Given the description of an element on the screen output the (x, y) to click on. 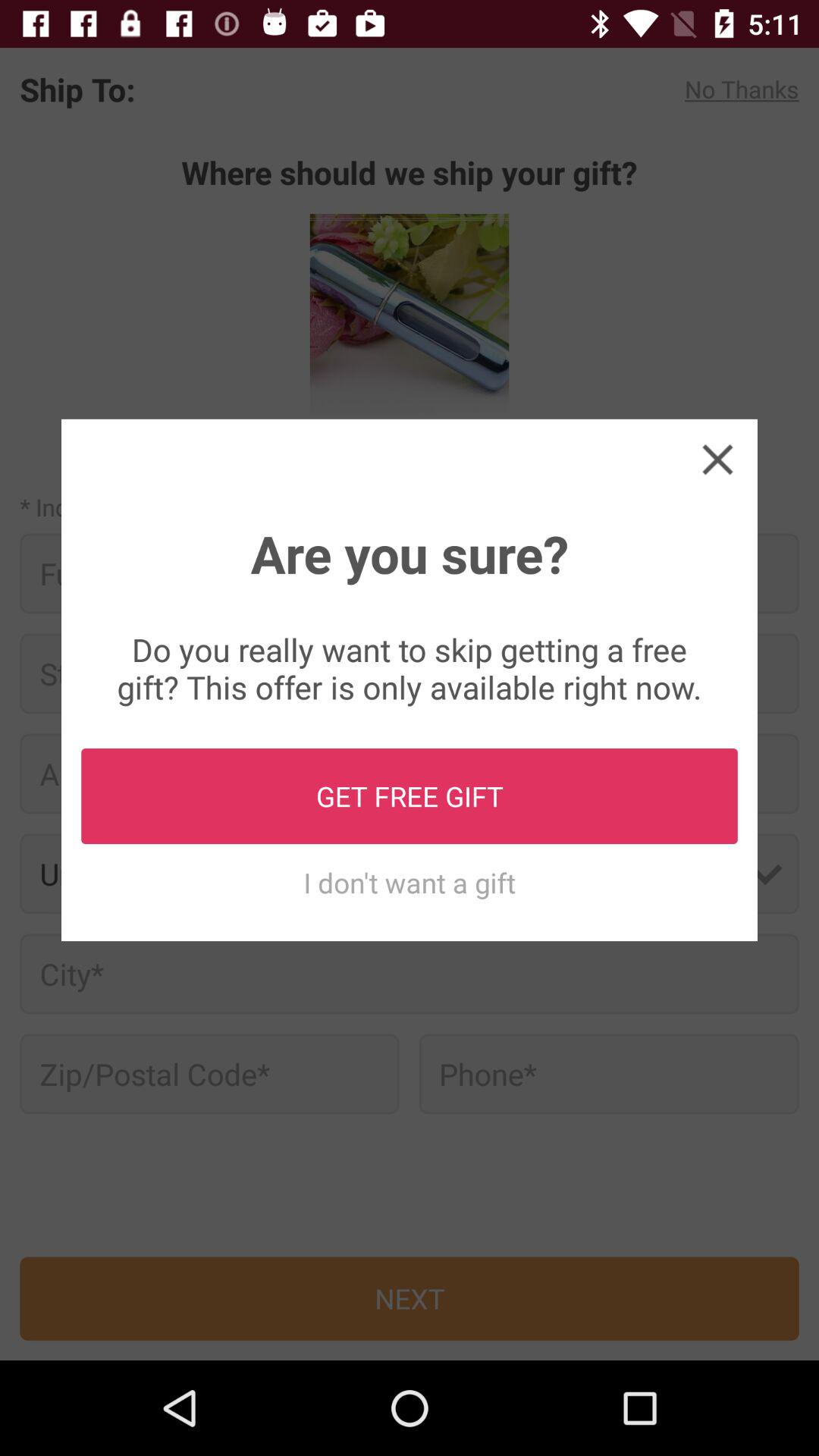
launch icon below get free gift item (409, 882)
